Given the description of an element on the screen output the (x, y) to click on. 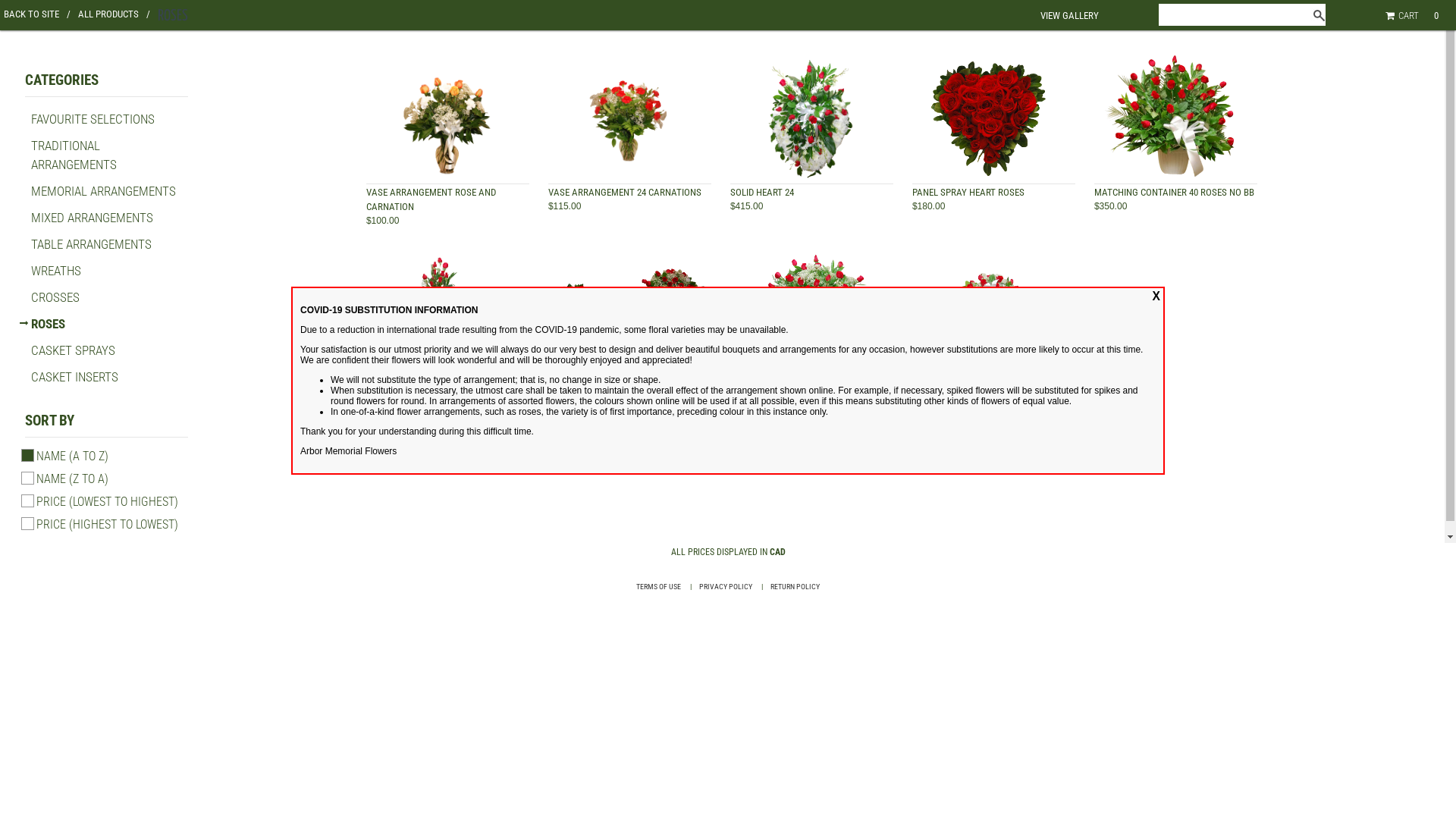
CASKET SPRAYS Element type: text (73, 349)
CASKET SPRAY 25 ROSES Element type: text (598, 383)
$280.00 Element type: text (382, 397)
TABLE ARRANGEMENTS Element type: text (91, 243)
WREATHS Element type: text (56, 270)
FAVOURITE SELECTIONS Element type: text (92, 118)
MEMORIAL ARRANGEMENT 30 ROSES Element type: text (440, 383)
PRICE (HIGHEST TO LOWEST) Element type: text (107, 524)
MIXED ARRANGEMENTS Element type: text (92, 217)
$415.00 Element type: text (746, 205)
RED ROSE TRIBUTE 30 RED ROSES B.B. Element type: text (804, 383)
$270.00 Element type: text (746, 397)
TRADITIONAL ARRANGEMENTS Element type: text (73, 155)
$180.00 Element type: text (928, 205)
VASE ARRANGEMENT 24 CARNATIONS Element type: text (624, 191)
TERMS OF USE Element type: text (658, 586)
CROSSES Element type: text (55, 296)
$240.00 Element type: text (564, 397)
PRIVACY POLICY Element type: text (725, 586)
$115.00 Element type: text (564, 205)
CASKET INSERTS Element type: text (74, 376)
MATCHING CONTAINER 40 ROSES NO BB Element type: text (1174, 191)
SOLID HEART 24 Element type: text (761, 191)
$495.00 Element type: text (928, 397)
CASKET SPRAY 60 ROSES Element type: text (962, 383)
MEMORIAL ARRANGEMENTS Element type: text (103, 190)
VASE ARRANGEMENT ROSE AND CARNATION Element type: text (430, 199)
$350.00 Element type: text (1110, 205)
NAME (Z TO A) Element type: text (72, 478)
NAME (A TO Z) Element type: text (72, 455)
$100.00 Element type: text (382, 220)
BACK TO SITE Element type: text (36, 13)
PRICE (LOWEST TO HIGHEST) Element type: text (107, 501)
VIEW GALLERY Element type: text (1069, 15)
PANEL SPRAY HEART ROSES Element type: text (968, 191)
RETURN POLICY Element type: text (794, 586)
ROSES Element type: text (48, 323)
CART Element type: text (1404, 15)
ALL PRODUCTS Element type: text (114, 13)
